Given the description of an element on the screen output the (x, y) to click on. 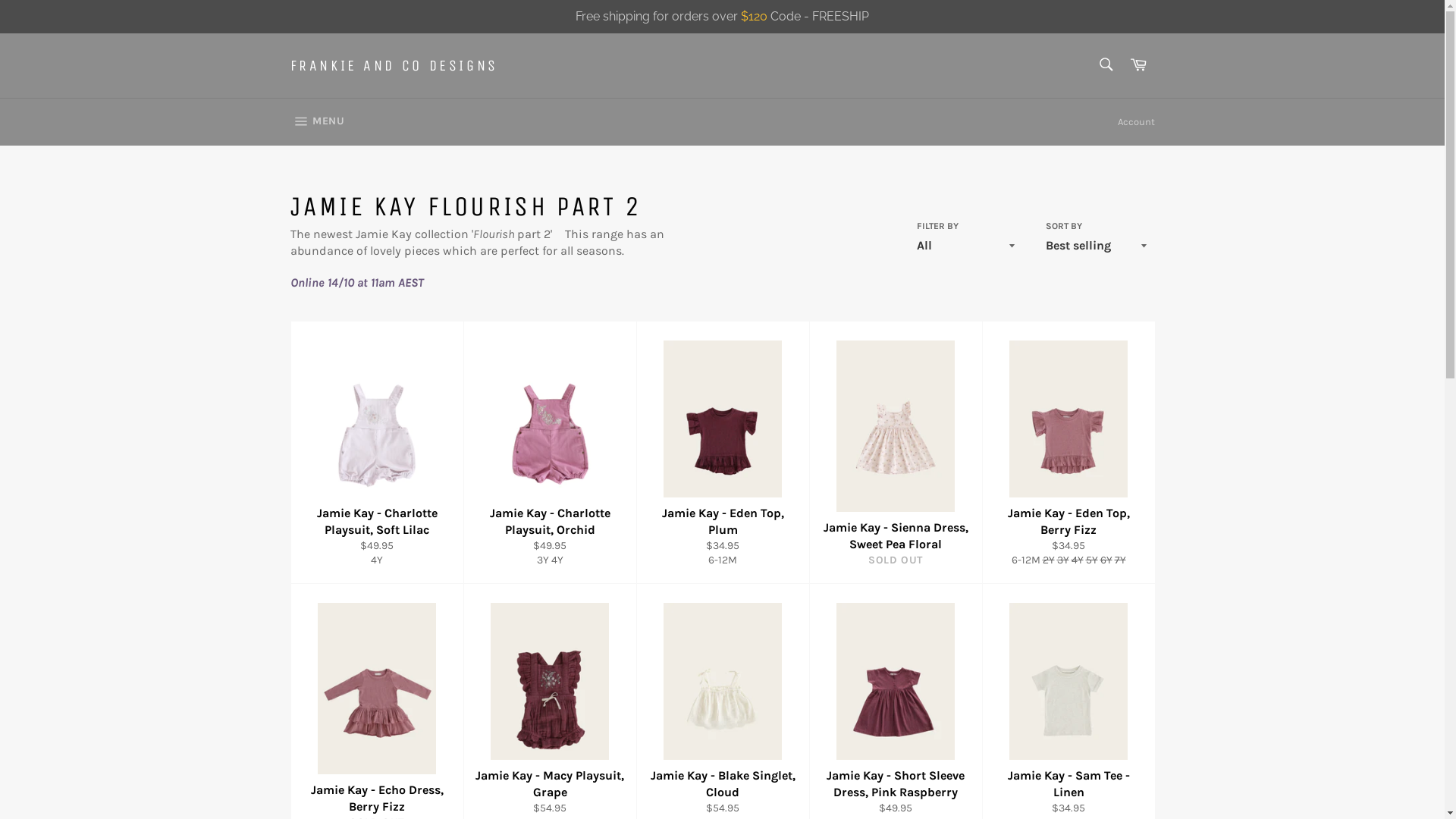
Search Element type: text (1105, 64)
Jamie Kay - Eden Top, Plum
Regular price
$34.95
6-12M Element type: text (721, 452)
Jamie Kay - Sienna Dress, Sweet Pea Floral
SOLD OUT Element type: text (894, 452)
Account Element type: text (1136, 122)
FRANKIE AND CO DESIGNS Element type: text (393, 65)
Cart Element type: text (1138, 65)
MENU
SITE NAVIGATION Element type: text (316, 121)
